Given the description of an element on the screen output the (x, y) to click on. 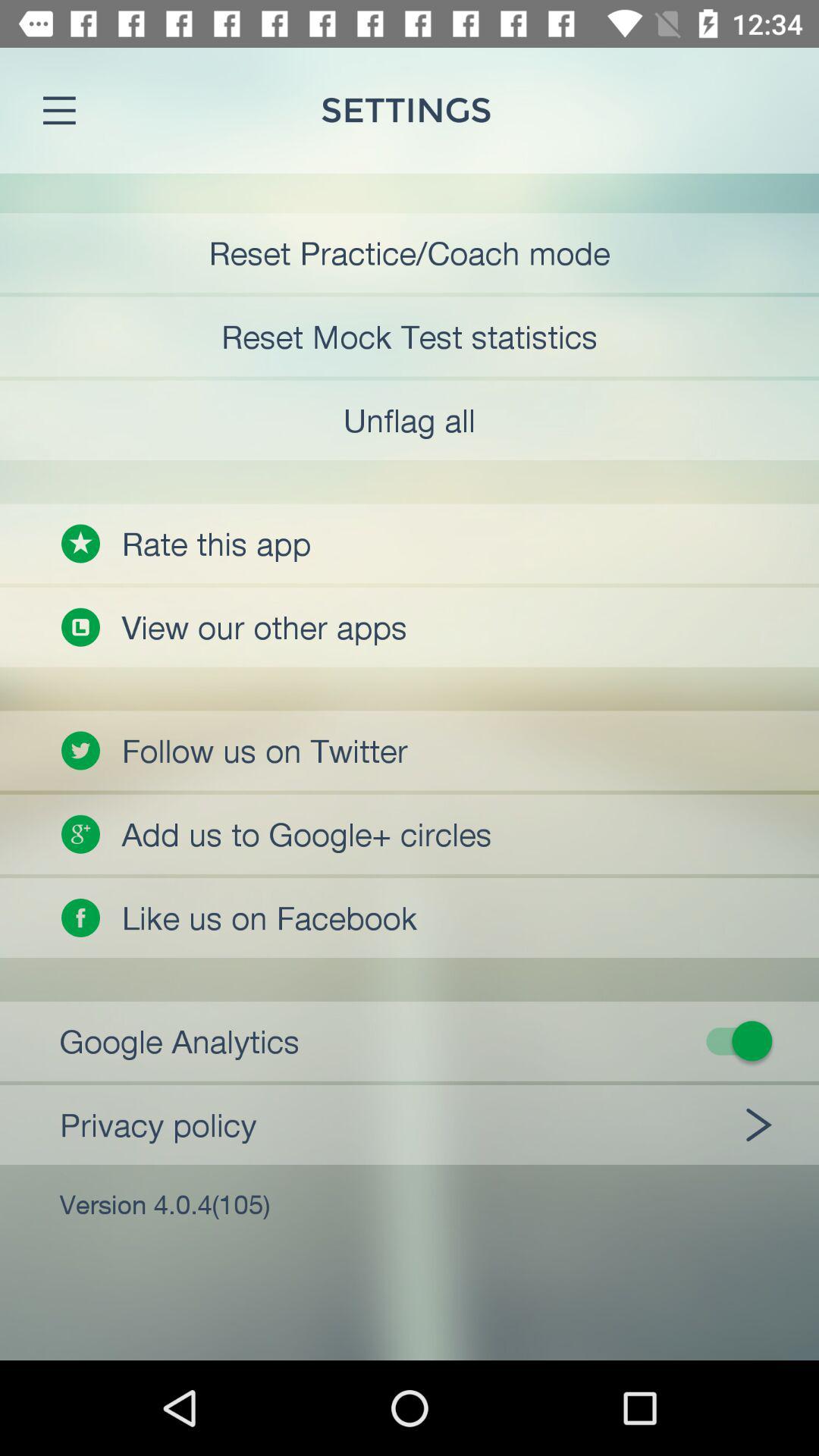
turn on or off (419, 1041)
